Given the description of an element on the screen output the (x, y) to click on. 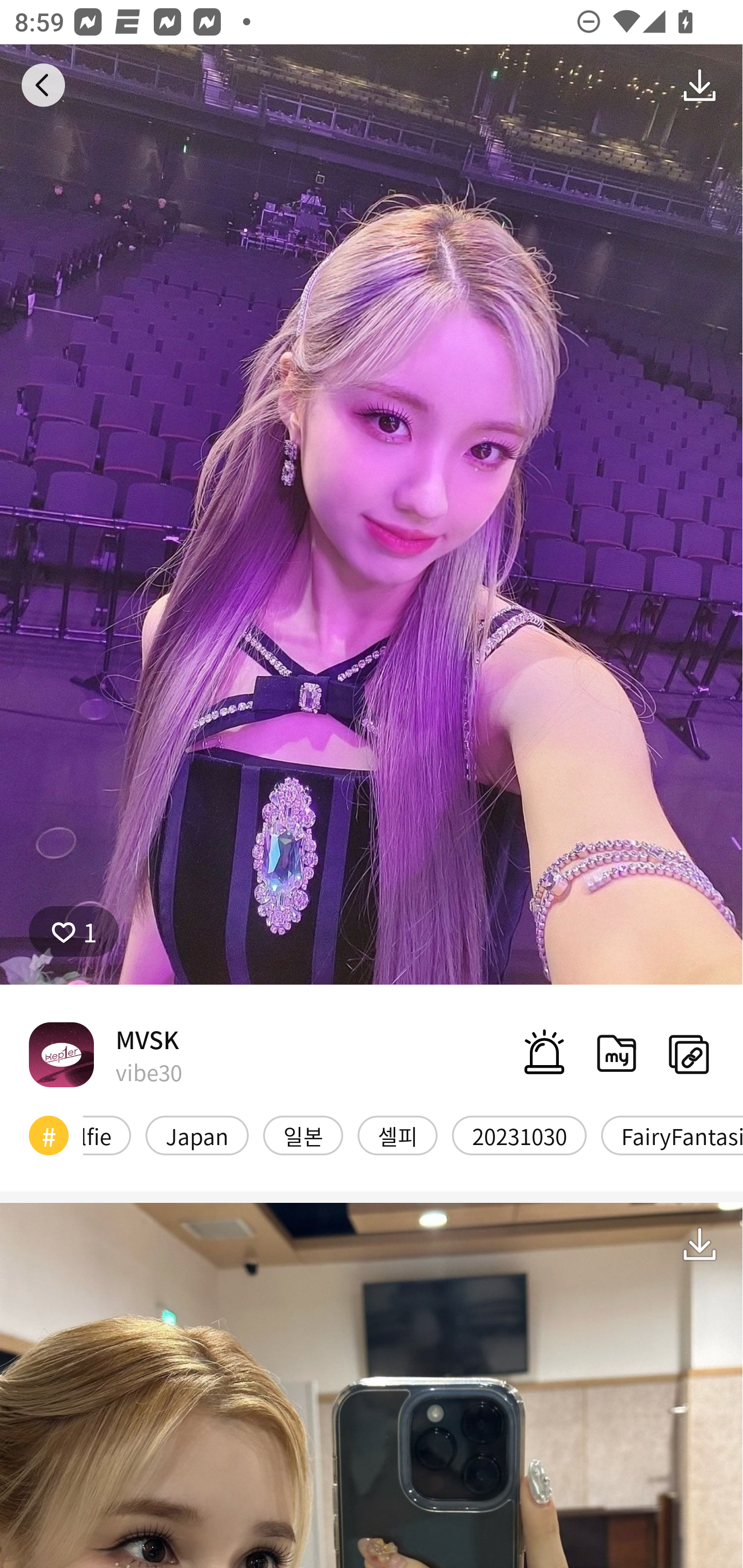
1 (73, 932)
MVSK vibe30 (105, 1054)
Japan (196, 1135)
일본 (303, 1135)
셀피 (397, 1135)
20231030 (518, 1135)
FairyFantasia (672, 1135)
